Given the description of an element on the screen output the (x, y) to click on. 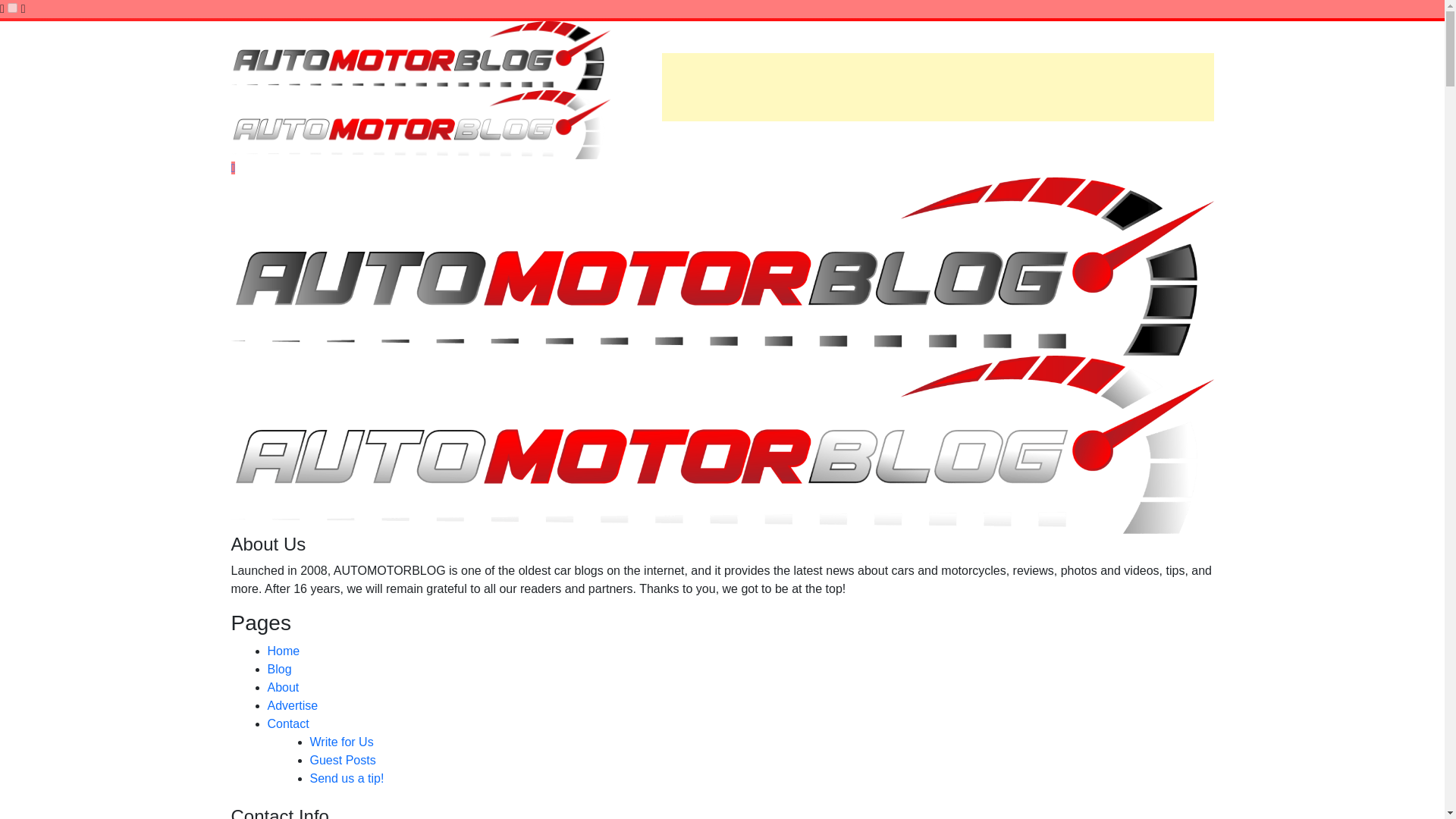
on (12, 8)
Send us a tip! (346, 778)
Home (282, 650)
Write for Us (340, 741)
About (282, 686)
Contact (287, 723)
Blog (278, 668)
Guest Posts (341, 759)
Advertise (291, 705)
